Given the description of an element on the screen output the (x, y) to click on. 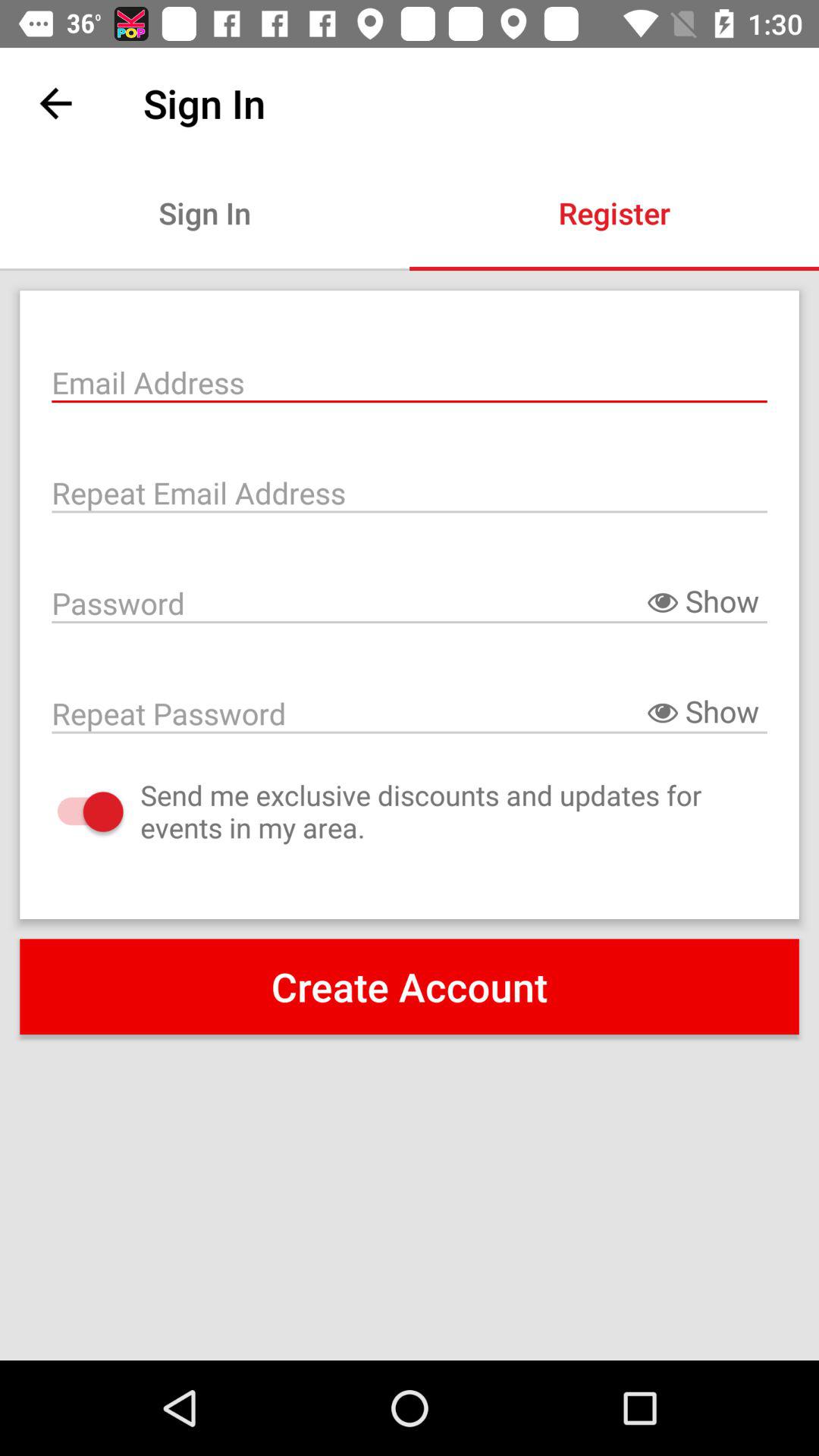
turn on notification (74, 811)
